Given the description of an element on the screen output the (x, y) to click on. 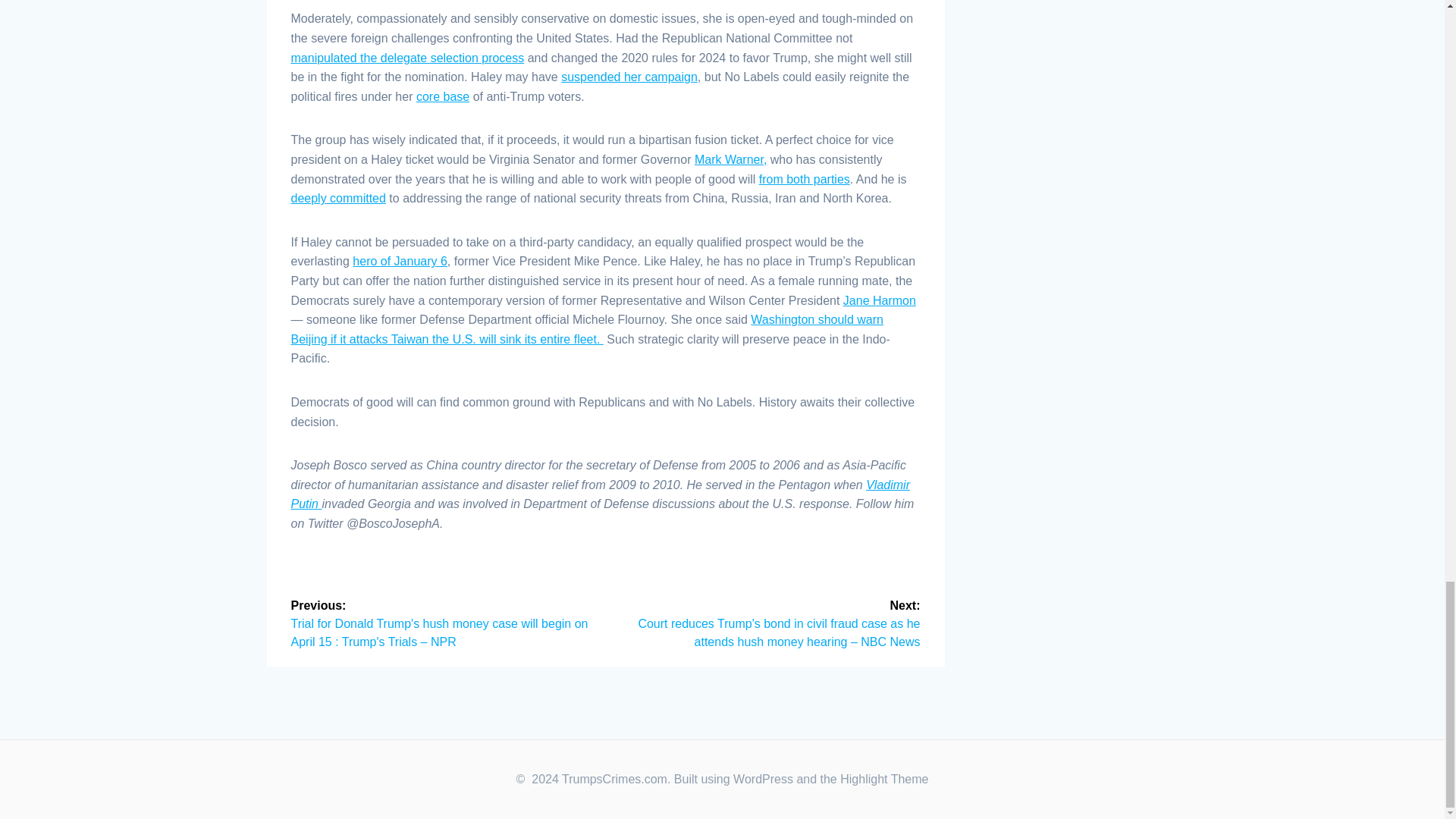
core base (442, 96)
Vladimir Putin (600, 494)
hero of January 6 (399, 260)
suspended her campaign (628, 76)
deeply committed (338, 197)
Mark Warner, (730, 159)
manipulated the delegate selection process (407, 57)
from both parties (804, 178)
Jane Harmon (879, 300)
